Given the description of an element on the screen output the (x, y) to click on. 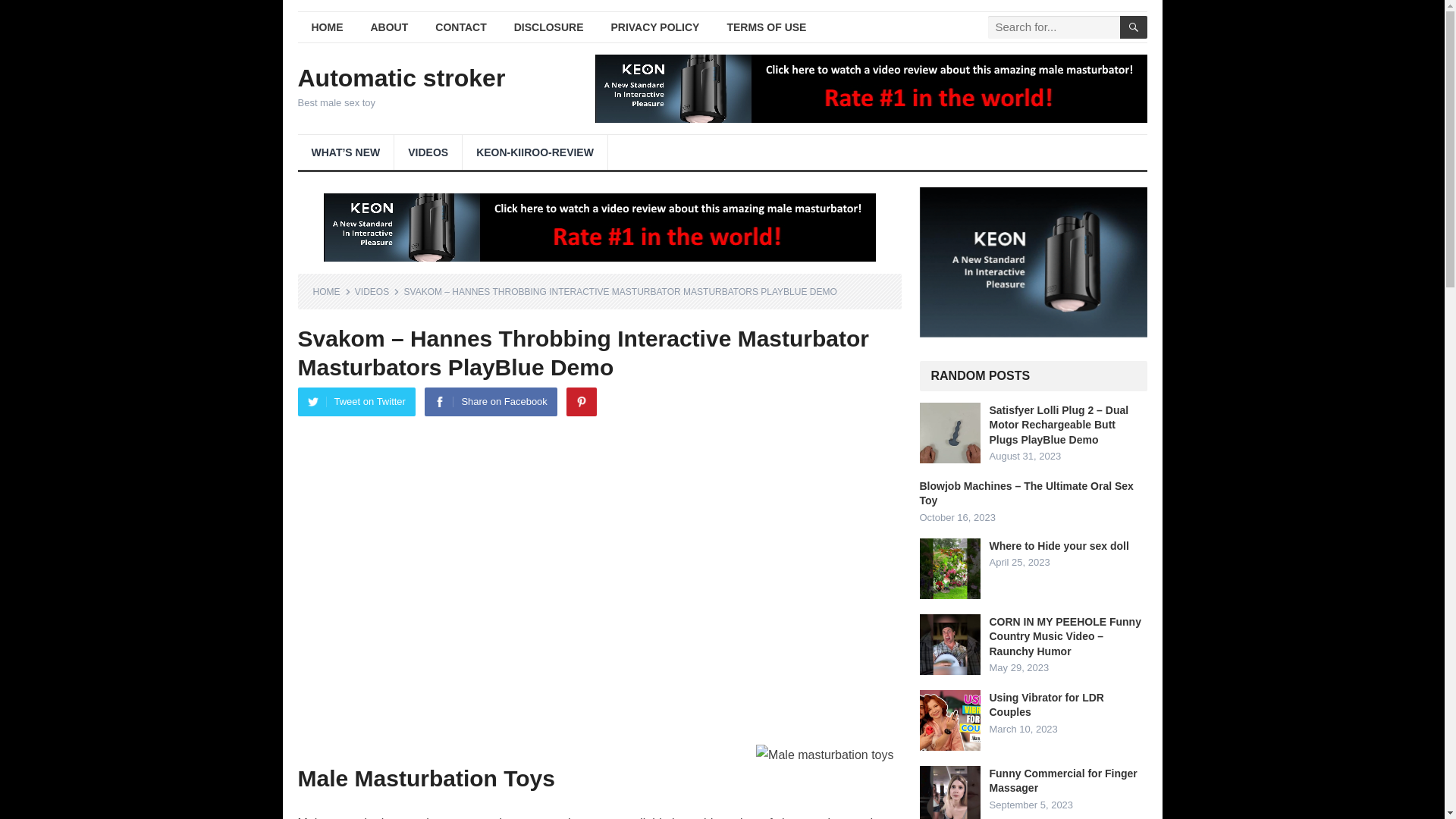
TERMS OF USE (766, 27)
DISCLOSURE (548, 27)
View all posts in Videos (376, 291)
ABOUT (389, 27)
PRIVACY POLICY (654, 27)
Share on Facebook (490, 401)
CONTACT (460, 27)
Pinterest (581, 401)
HOME (331, 291)
